Given the description of an element on the screen output the (x, y) to click on. 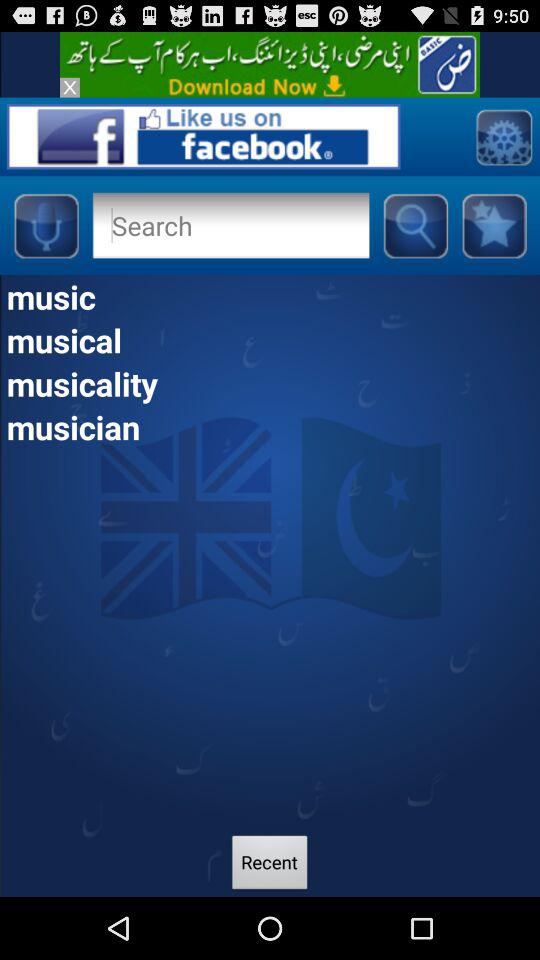
launch item below musicality item (270, 426)
